Given the description of an element on the screen output the (x, y) to click on. 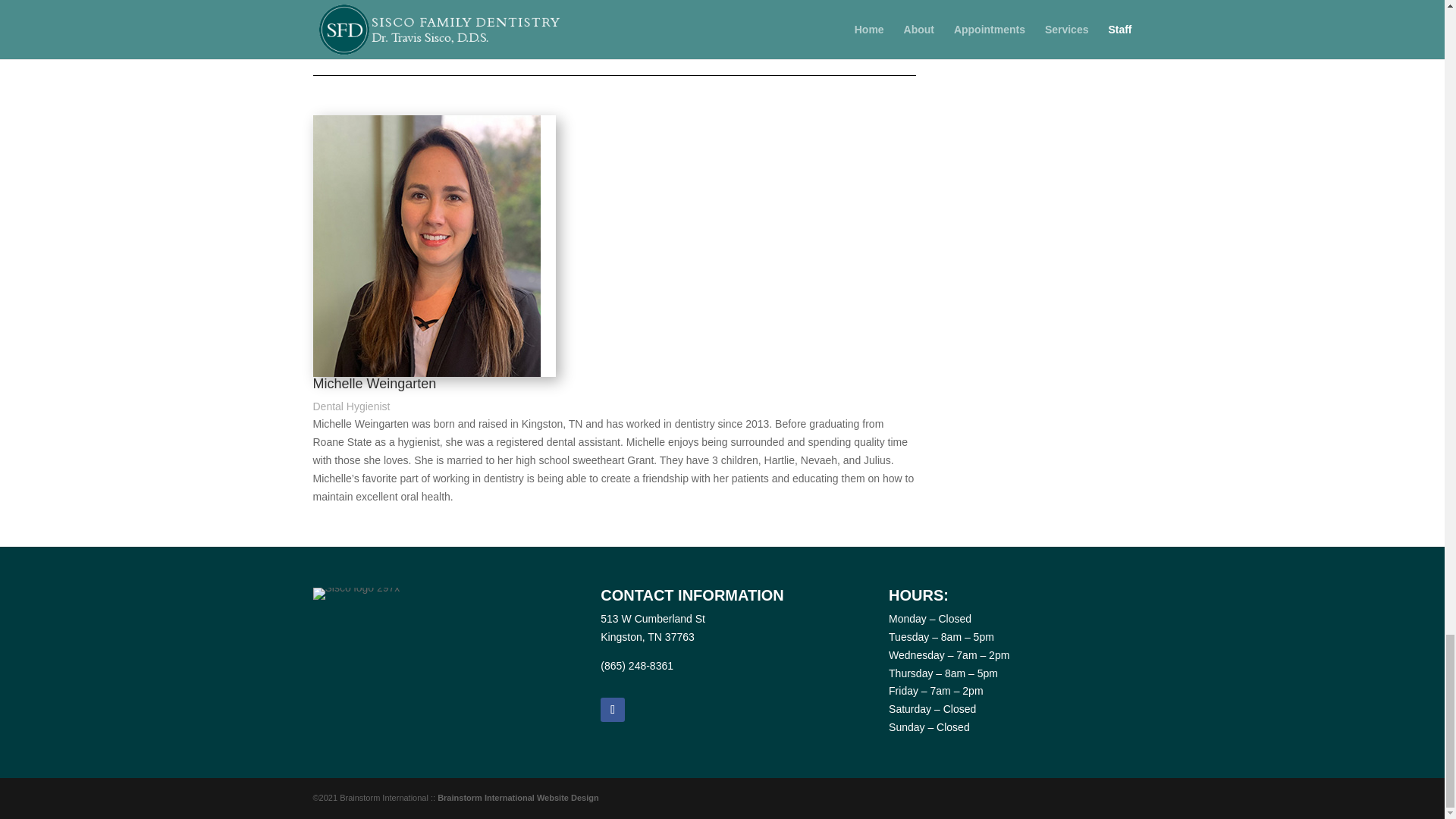
Follow on Facebook (611, 709)
Brainstorm International Website Design (518, 797)
Sisco logo 297x (355, 593)
